Given the description of an element on the screen output the (x, y) to click on. 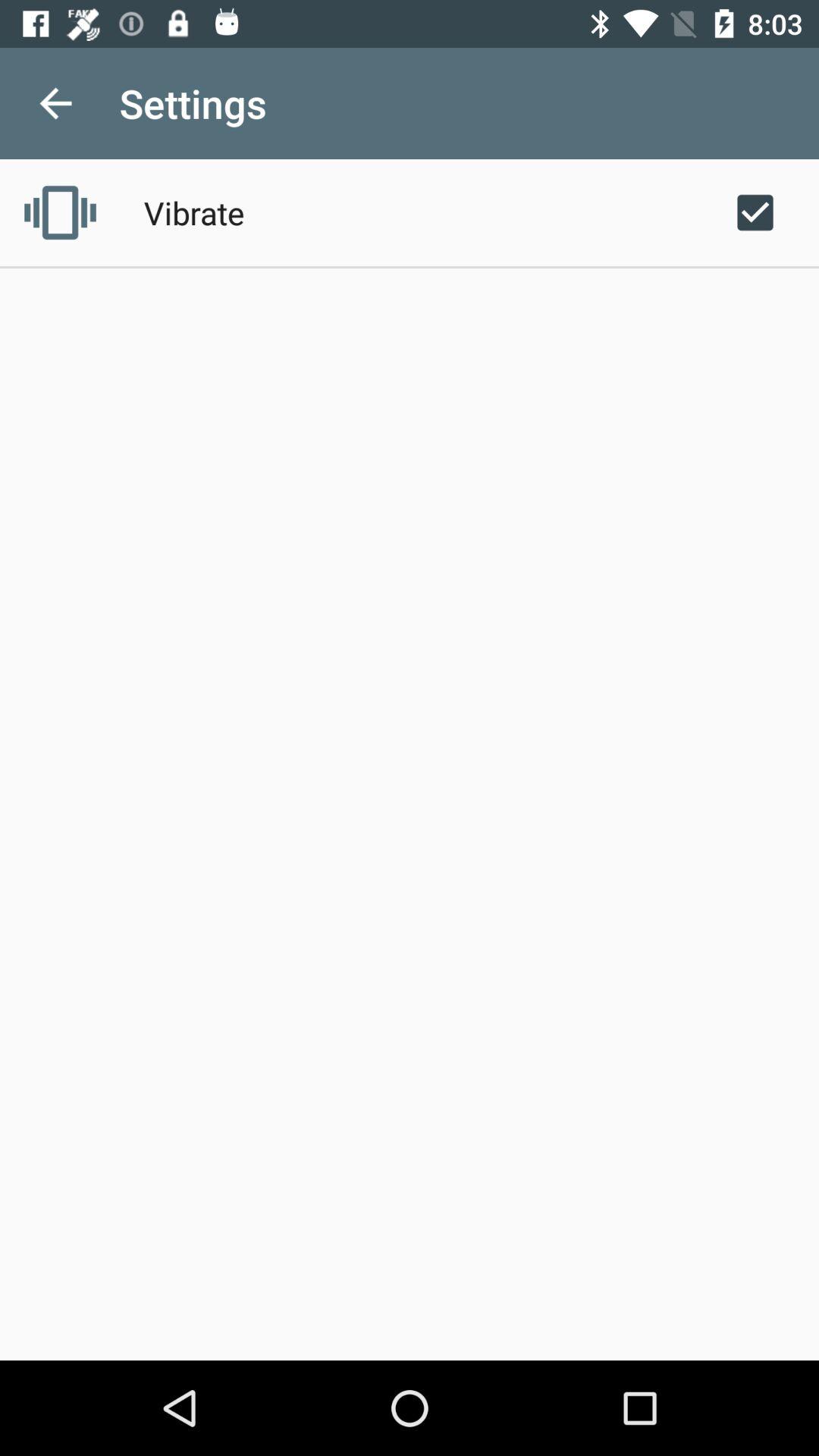
turn off the icon to the left of vibrate (60, 212)
